Given the description of an element on the screen output the (x, y) to click on. 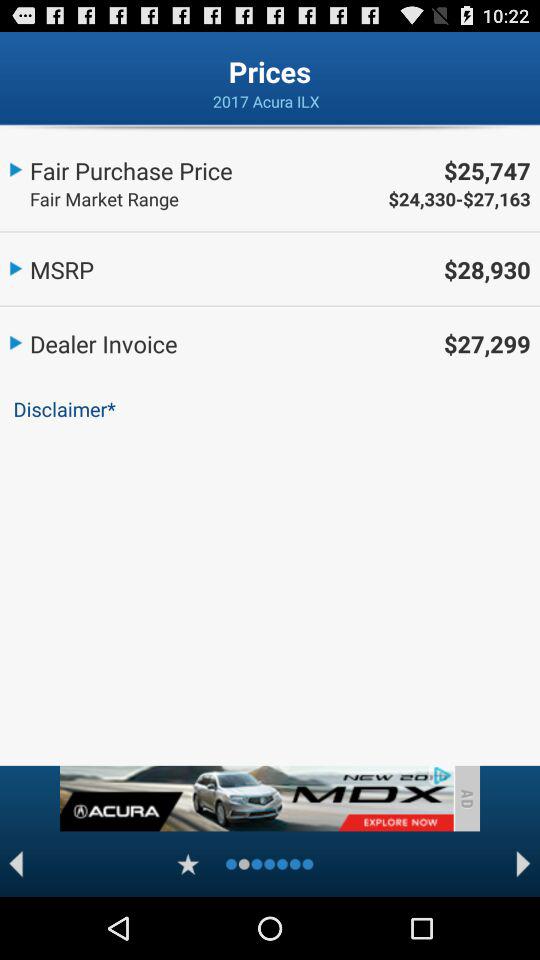
next option (523, 864)
